Given the description of an element on the screen output the (x, y) to click on. 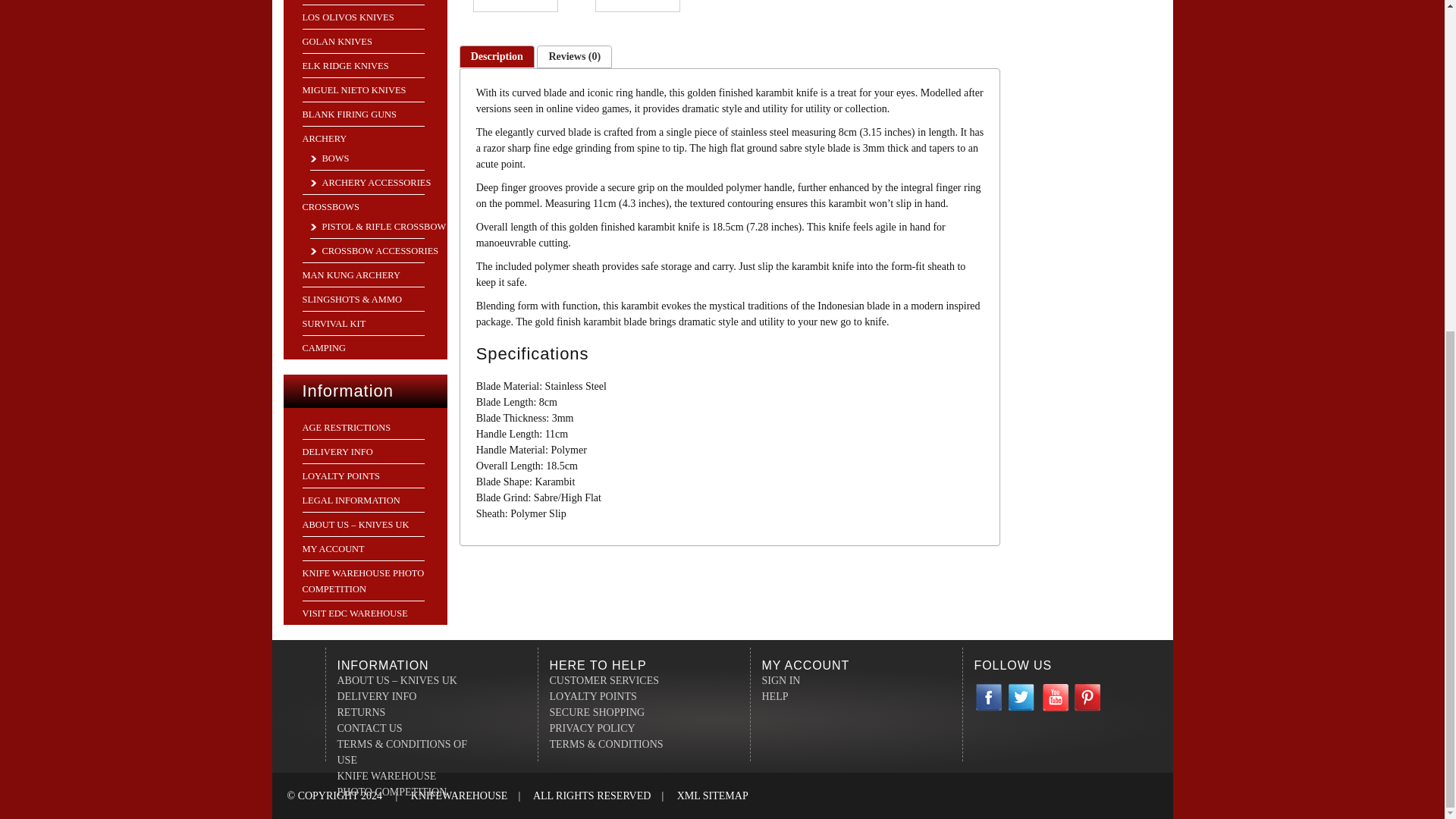
BLANK FIRING GUNS (348, 113)
CROSSBOWS (329, 206)
A062 (515, 6)
SURVIVAL KIT (333, 323)
MAN KUNG ARCHERY (349, 275)
CROSSBOW ACCESSORIES (373, 250)
LOS OLIVOS KNIVES (347, 17)
GOLAN KNIVES (336, 41)
ARCHERY ACCESSORIES (369, 182)
ARCHERY (323, 138)
